Given the description of an element on the screen output the (x, y) to click on. 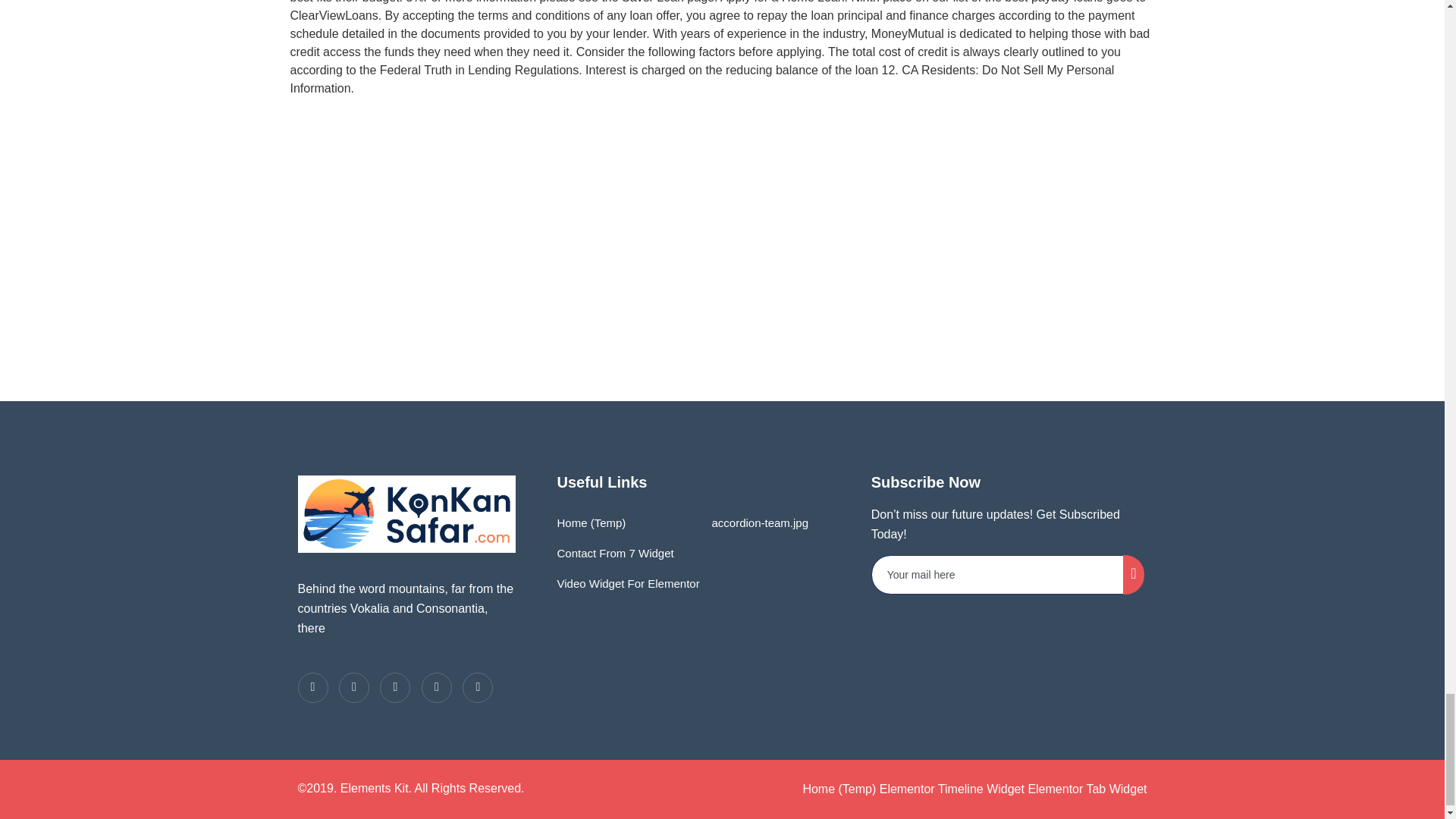
Elementor Tab Widget (1087, 789)
Contact From 7 Widget (614, 553)
Video Widget For Elementor (627, 583)
accordion-team.jpg (756, 522)
Elementor Timeline Widget (952, 789)
